Given the description of an element on the screen output the (x, y) to click on. 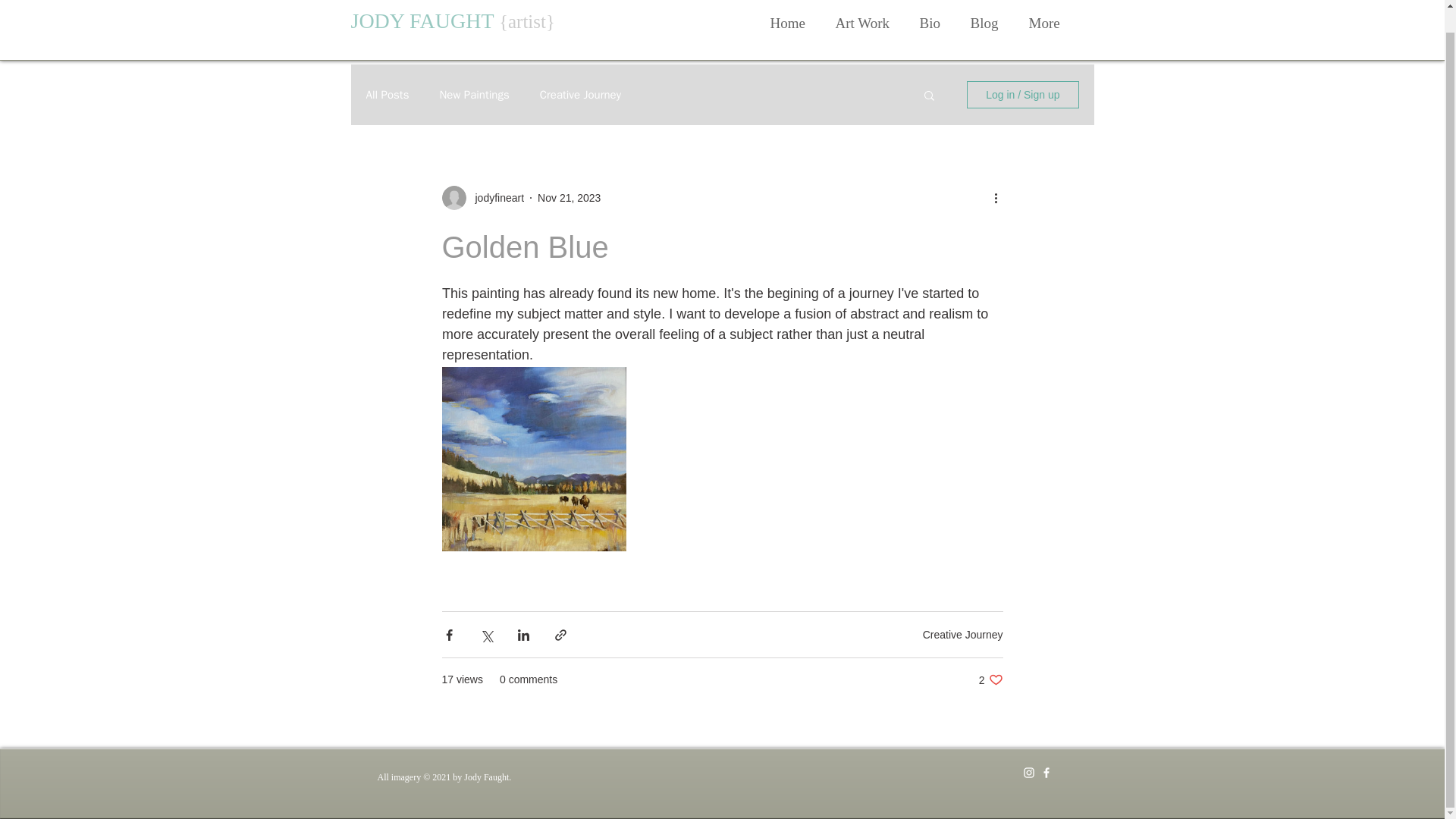
New Paintings (473, 94)
Art Work (990, 679)
Blog (862, 22)
jodyfineart (984, 22)
All Posts (494, 197)
Creative Journey (387, 94)
Nov 21, 2023 (580, 94)
Home (568, 196)
JODY FAUGHT (788, 22)
